Given the description of an element on the screen output the (x, y) to click on. 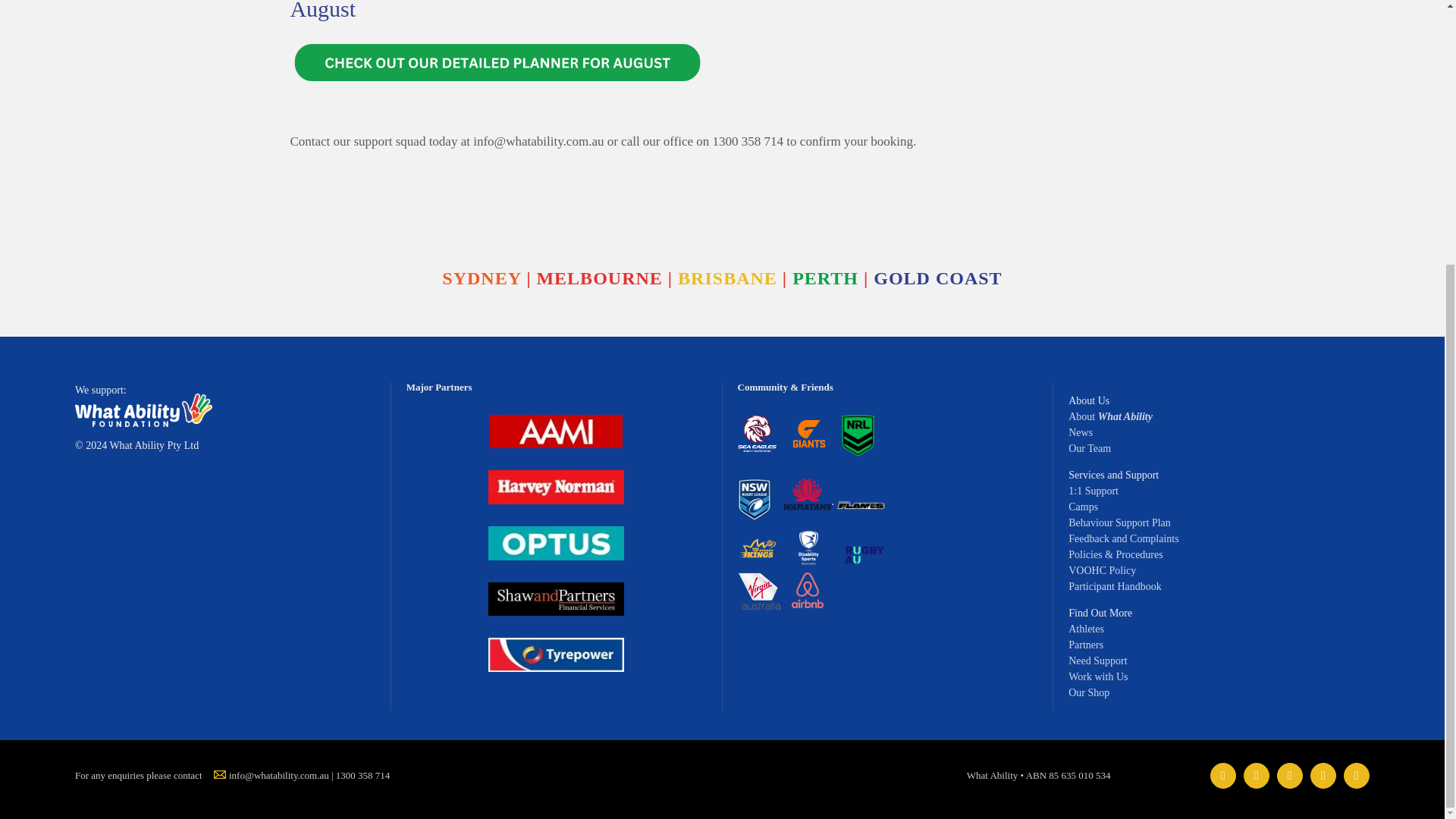
August (721, 58)
